Given the description of an element on the screen output the (x, y) to click on. 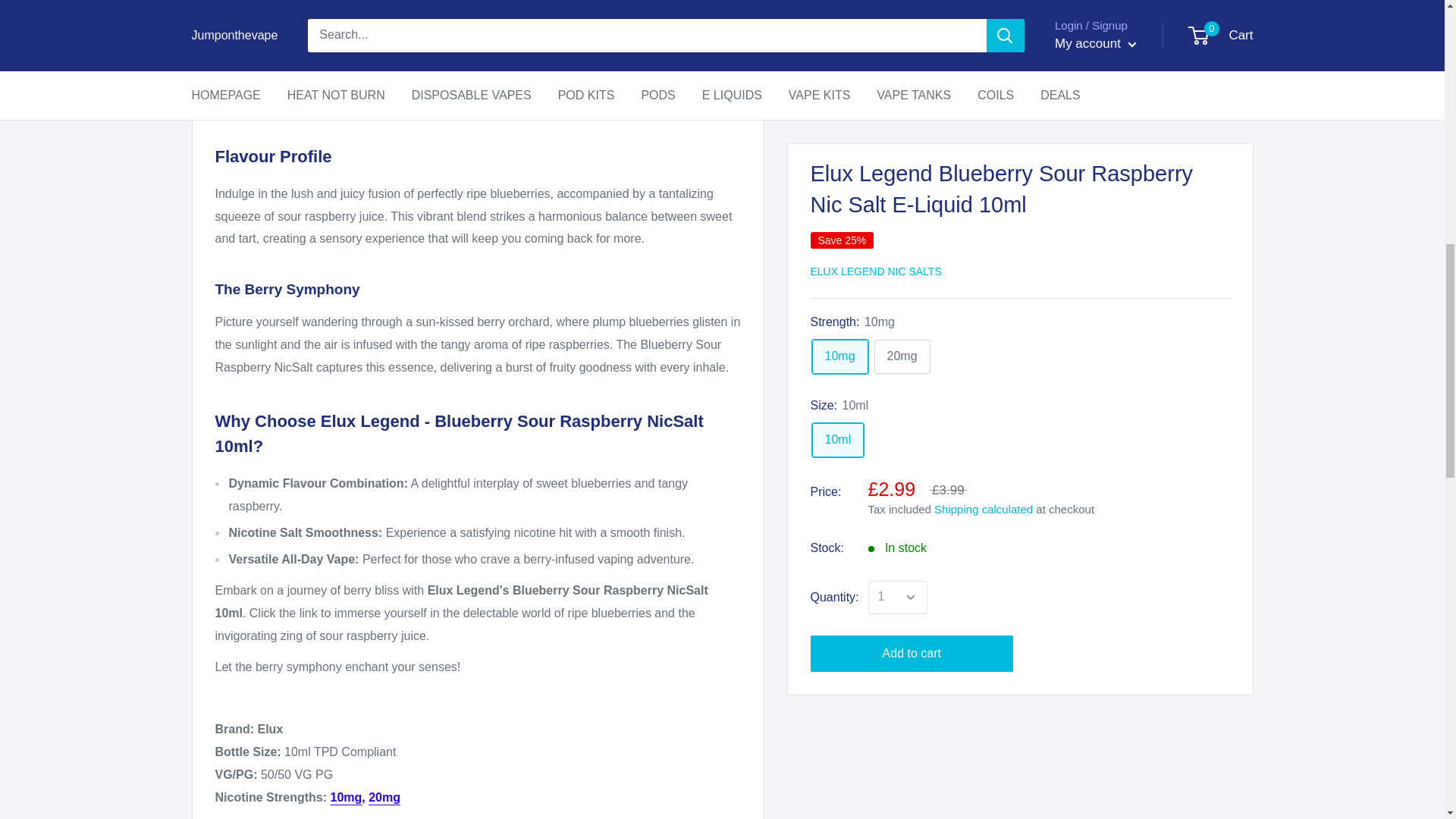
10mg Salt Nicotine E Liquid (346, 797)
20mg Salt Nicotine E Liquid (384, 797)
